Given the description of an element on the screen output the (x, y) to click on. 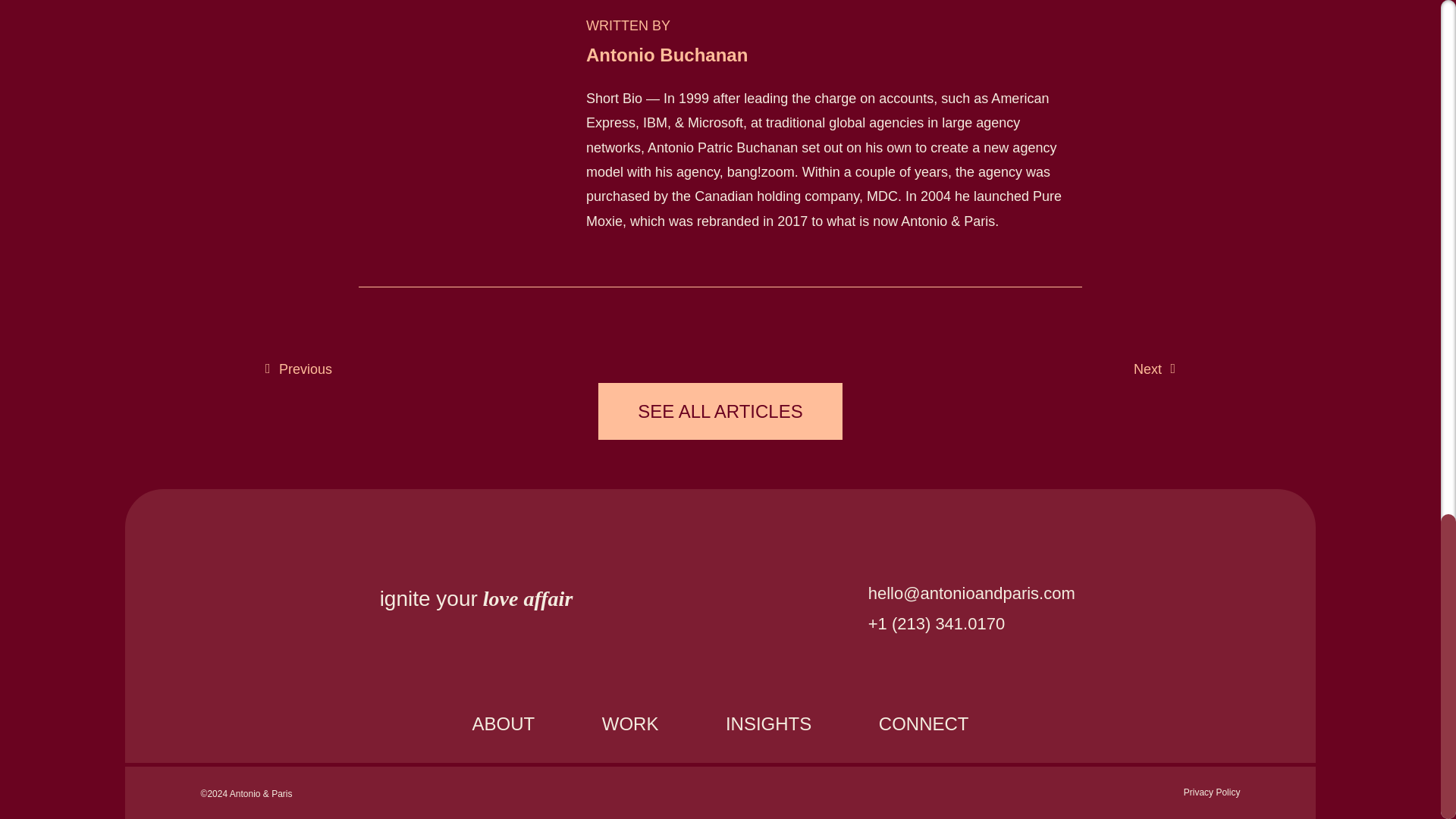
WORK (630, 723)
ABOUT (503, 723)
blog landing page (719, 411)
Next (1154, 369)
SEE ALL ARTICLES (719, 411)
Privacy Policy (1211, 792)
CONNECT (923, 723)
Previous (297, 369)
INSIGHTS (768, 723)
